Given the description of an element on the screen output the (x, y) to click on. 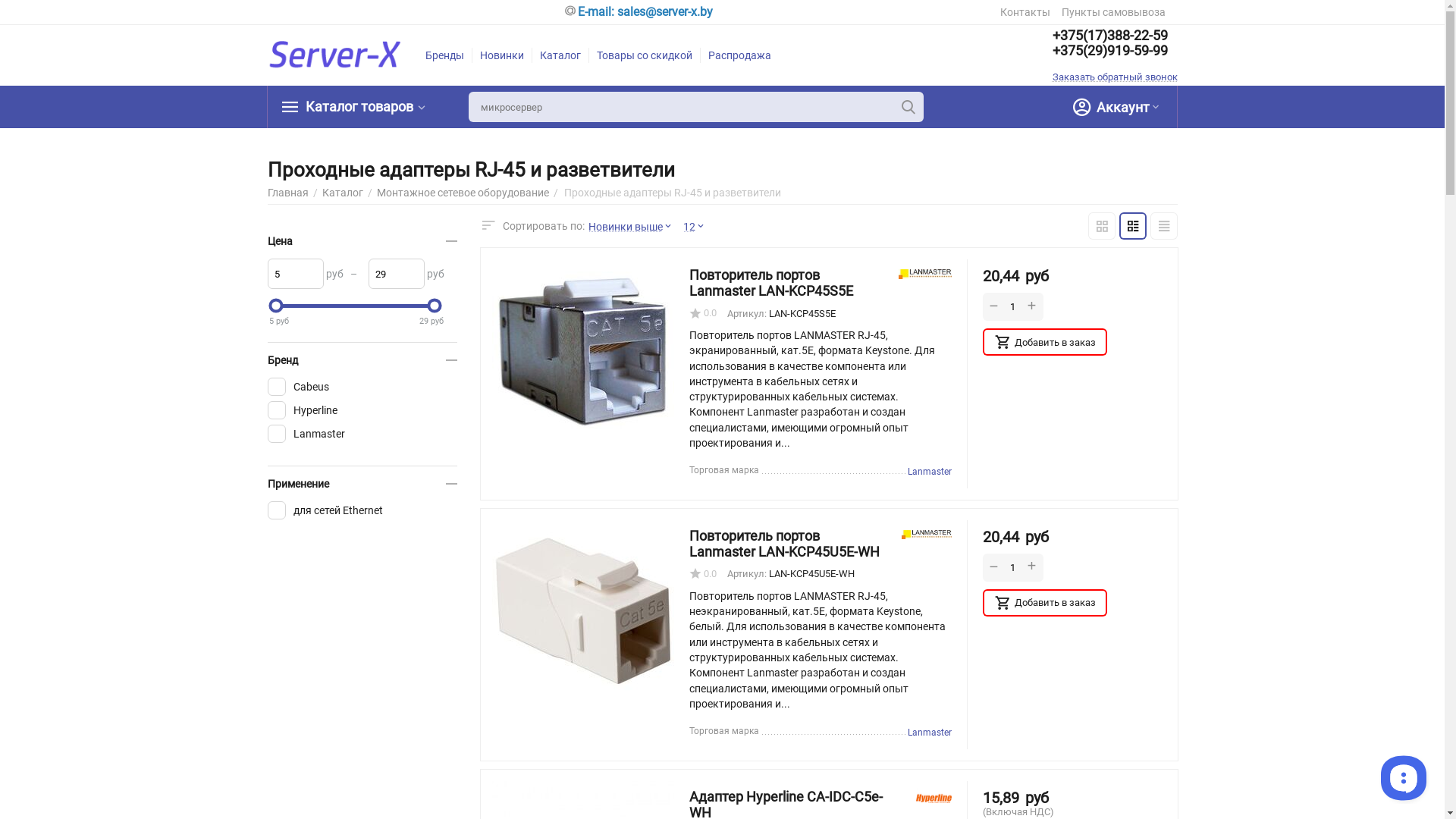
12 Element type: text (697, 225)
+375(17)388-22-59 Element type: text (1114, 35)
Server-X Element type: hover (334, 54)
__replain_widget_iframe Element type: hover (1402, 776)
Lanmaster Element type: hover (924, 274)
Lanmaster Element type: hover (925, 534)
+ Element type: text (1031, 566)
+375(29)919-59-99 Element type: text (1114, 50)
Hyperline Element type: hover (933, 795)
+ Element type: text (1031, 306)
Server-X Element type: hover (334, 55)
